Given the description of an element on the screen output the (x, y) to click on. 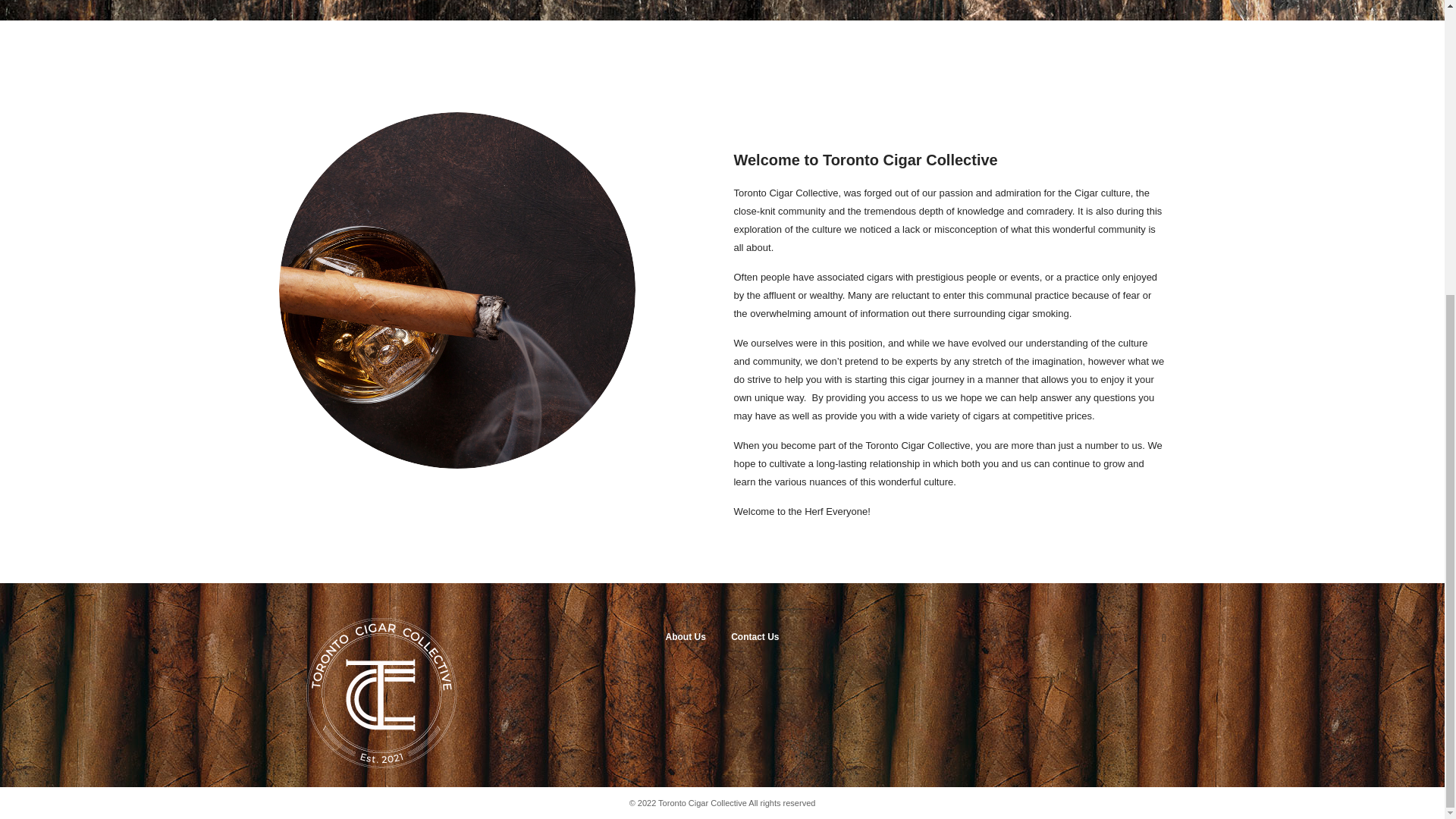
Contact Us (754, 636)
About Us (684, 636)
